Given the description of an element on the screen output the (x, y) to click on. 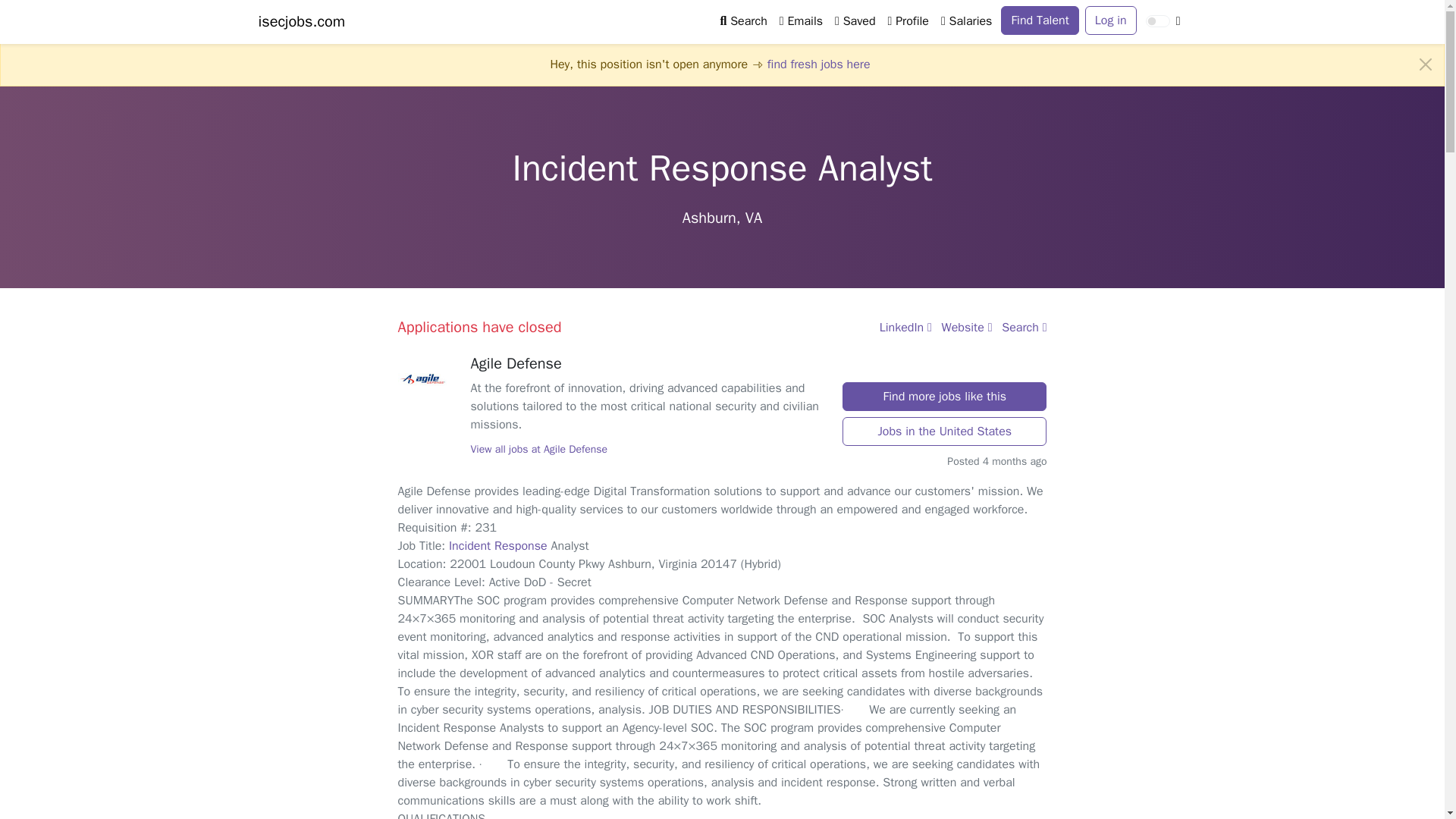
Show all open positions at Agile Defense (427, 378)
Salaries (966, 20)
LinkedIn (905, 327)
Find Talent (1039, 20)
on (1157, 21)
Saved (854, 20)
Jobs in the United States (944, 430)
Search (743, 20)
isecjobs.com (301, 21)
Website (967, 327)
